Given the description of an element on the screen output the (x, y) to click on. 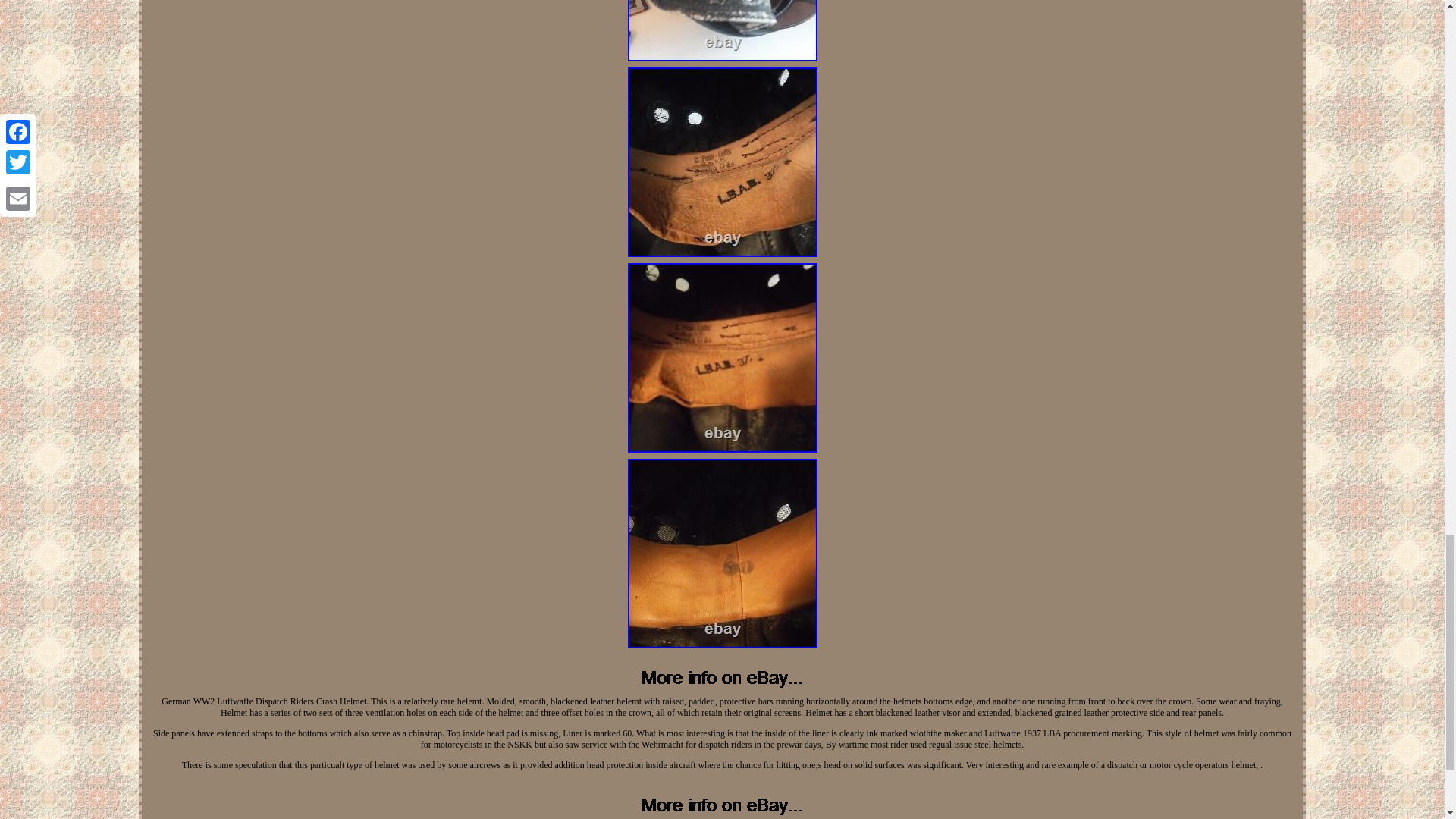
German WW2 Luftwaffe Dispatch Riders Crash Helmet (721, 553)
German WW2 Luftwaffe Dispatch Riders Crash Helmet (721, 30)
German WW2 Luftwaffe Dispatch Riders Crash Helmet (721, 162)
German WW2 Luftwaffe Dispatch Riders Crash Helmet (721, 357)
German WW2 Luftwaffe Dispatch Riders Crash Helmet (721, 678)
